Given the description of an element on the screen output the (x, y) to click on. 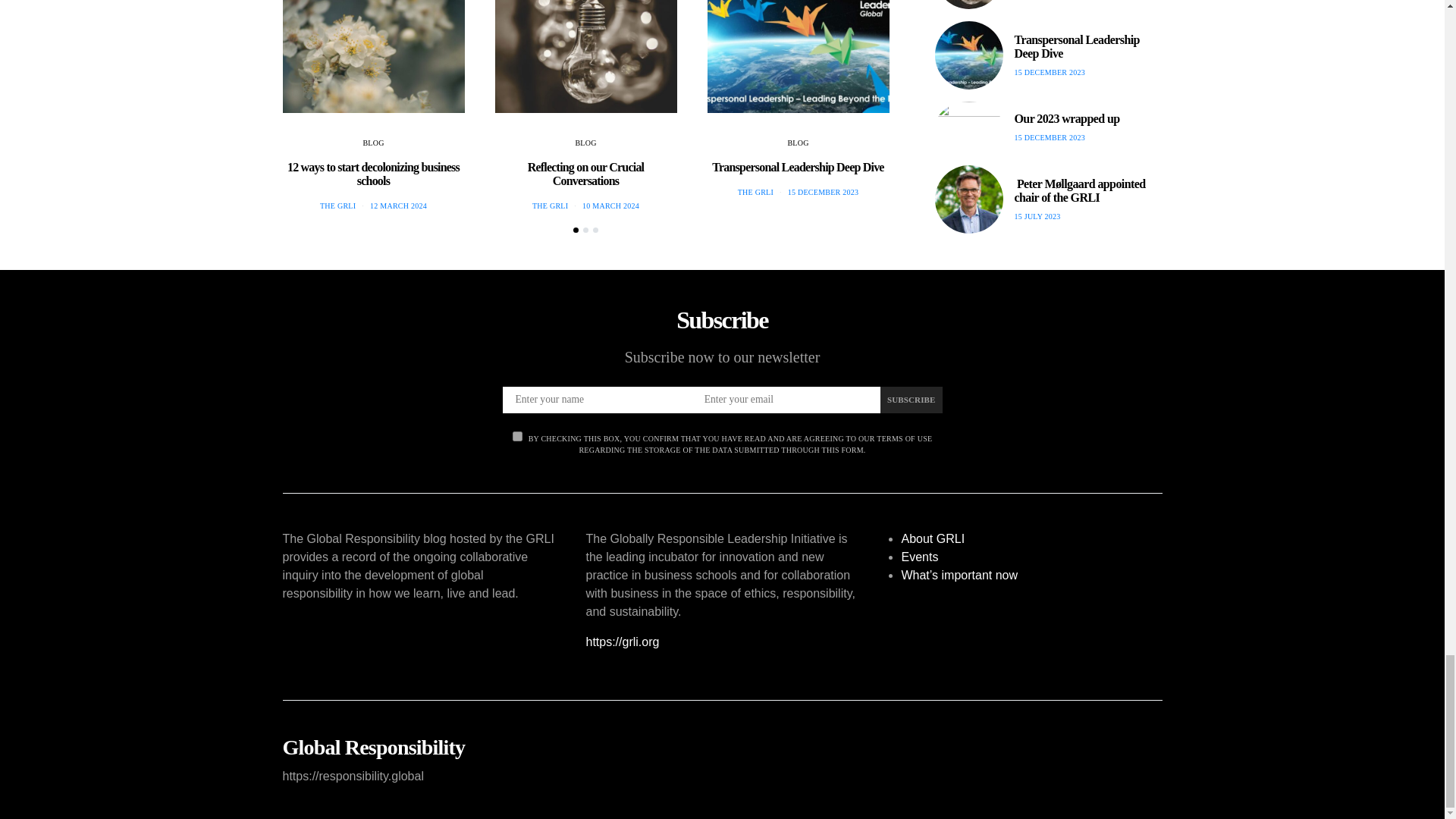
on (517, 436)
View all posts by The GRLI (549, 205)
View all posts by The GRLI (337, 205)
View all posts by The GRLI (755, 192)
